Given the description of an element on the screen output the (x, y) to click on. 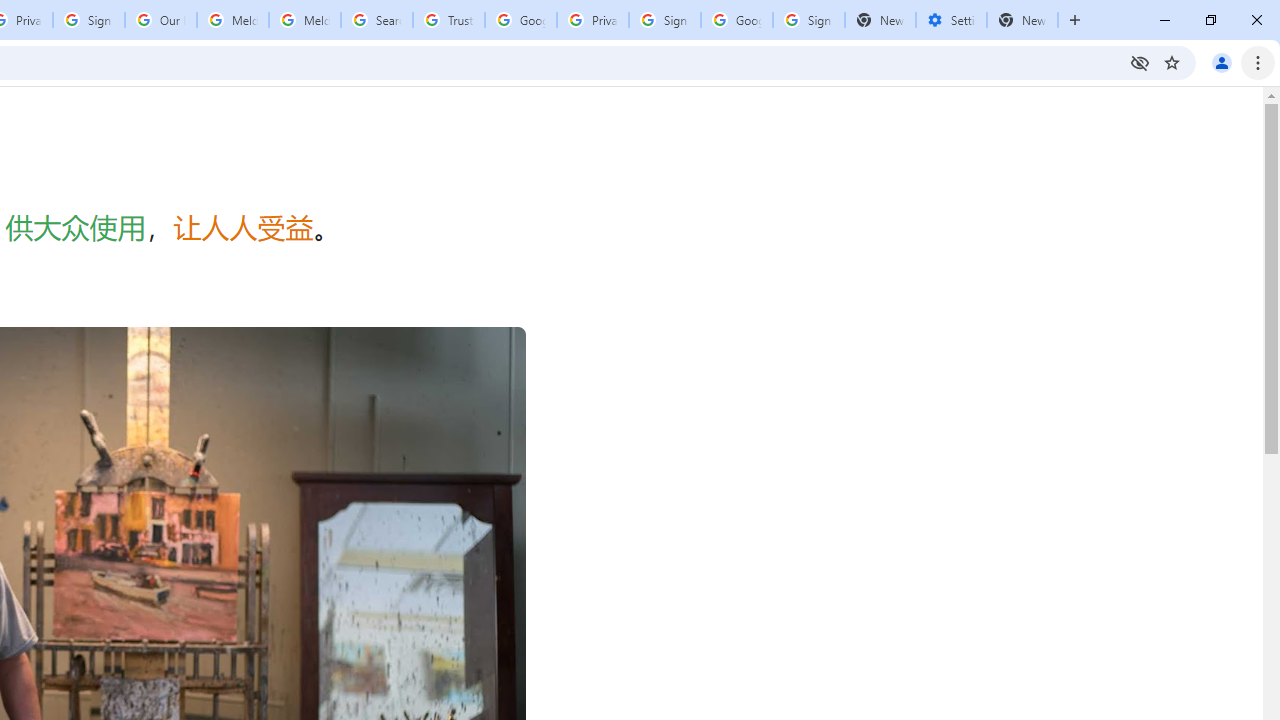
Google Ads - Sign in (520, 20)
New Tab (1022, 20)
Trusted Information and Content - Google Safety Center (449, 20)
Sign in - Google Accounts (664, 20)
Google Cybersecurity Innovations - Google Safety Center (737, 20)
Search our Doodle Library Collection - Google Doodles (376, 20)
Sign in - Google Accounts (808, 20)
Settings - Addresses and more (951, 20)
